Given the description of an element on the screen output the (x, y) to click on. 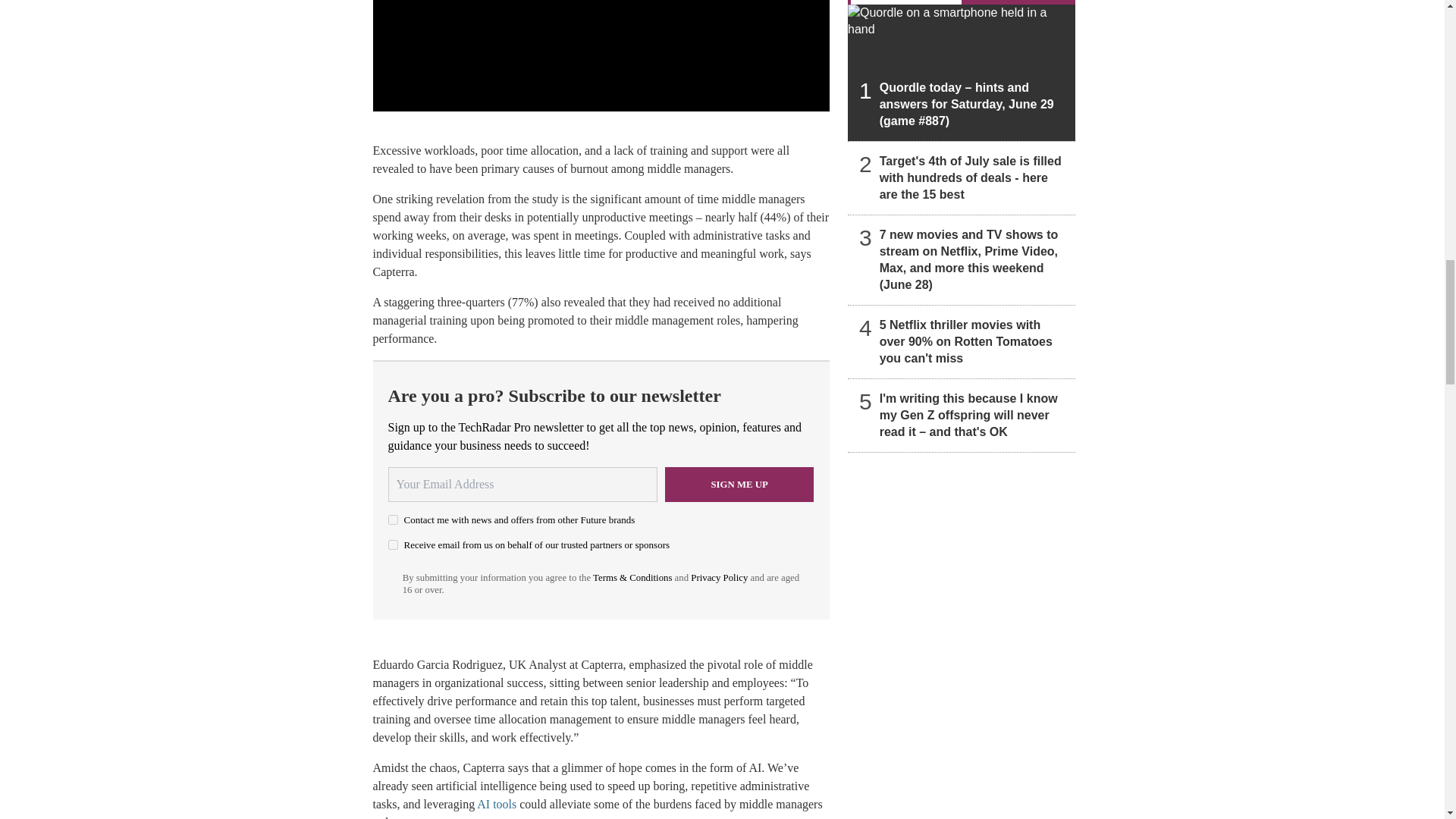
on (392, 544)
Sign me up (739, 484)
on (392, 519)
